Given the description of an element on the screen output the (x, y) to click on. 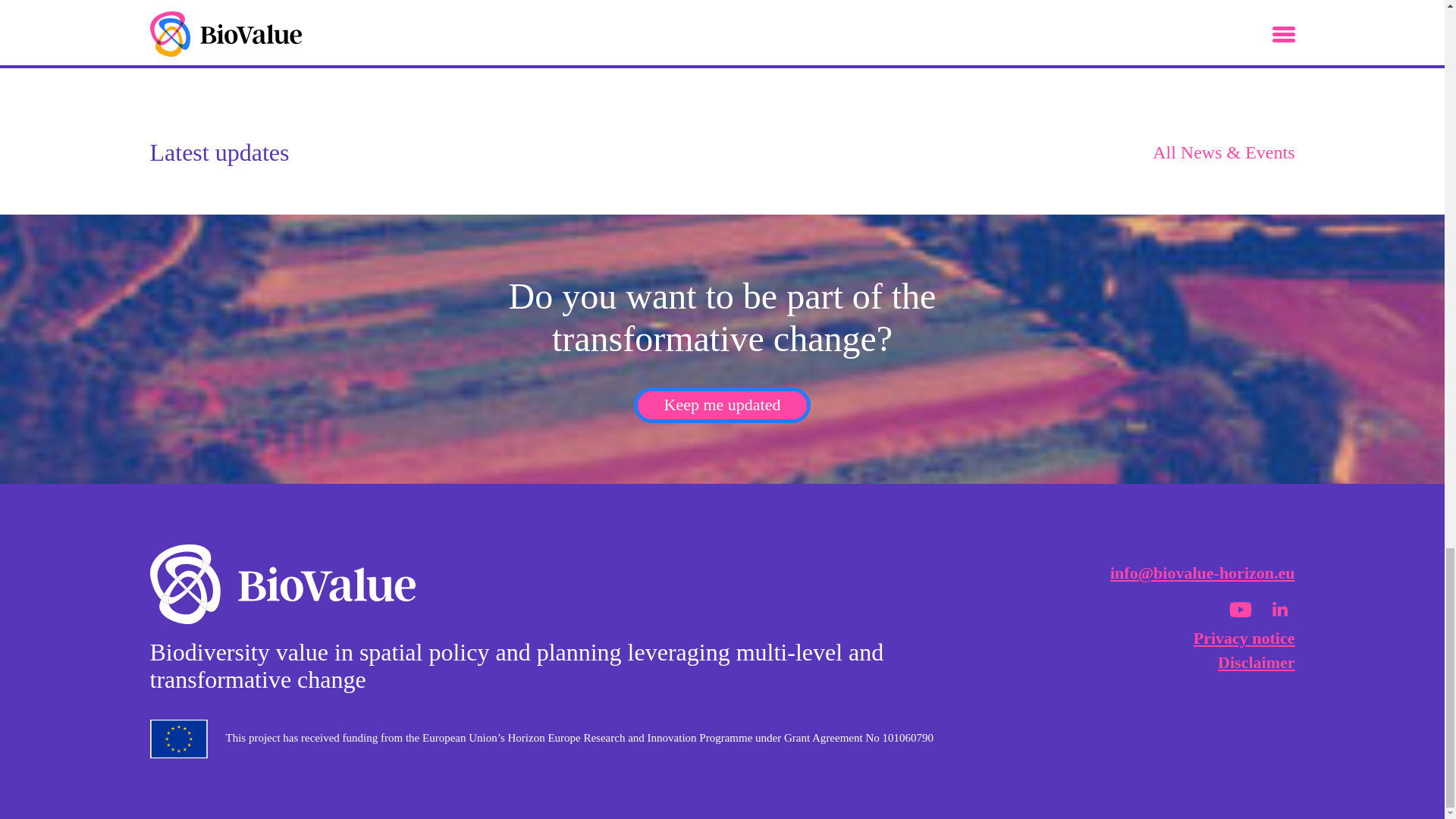
Disclaimer (1255, 661)
Keep me updated (721, 405)
Linkedin (1280, 609)
Keep me updated (721, 405)
Privacy notice (1244, 637)
Youtube (1240, 609)
BioValue - HorizonEU (281, 586)
